Given the description of an element on the screen output the (x, y) to click on. 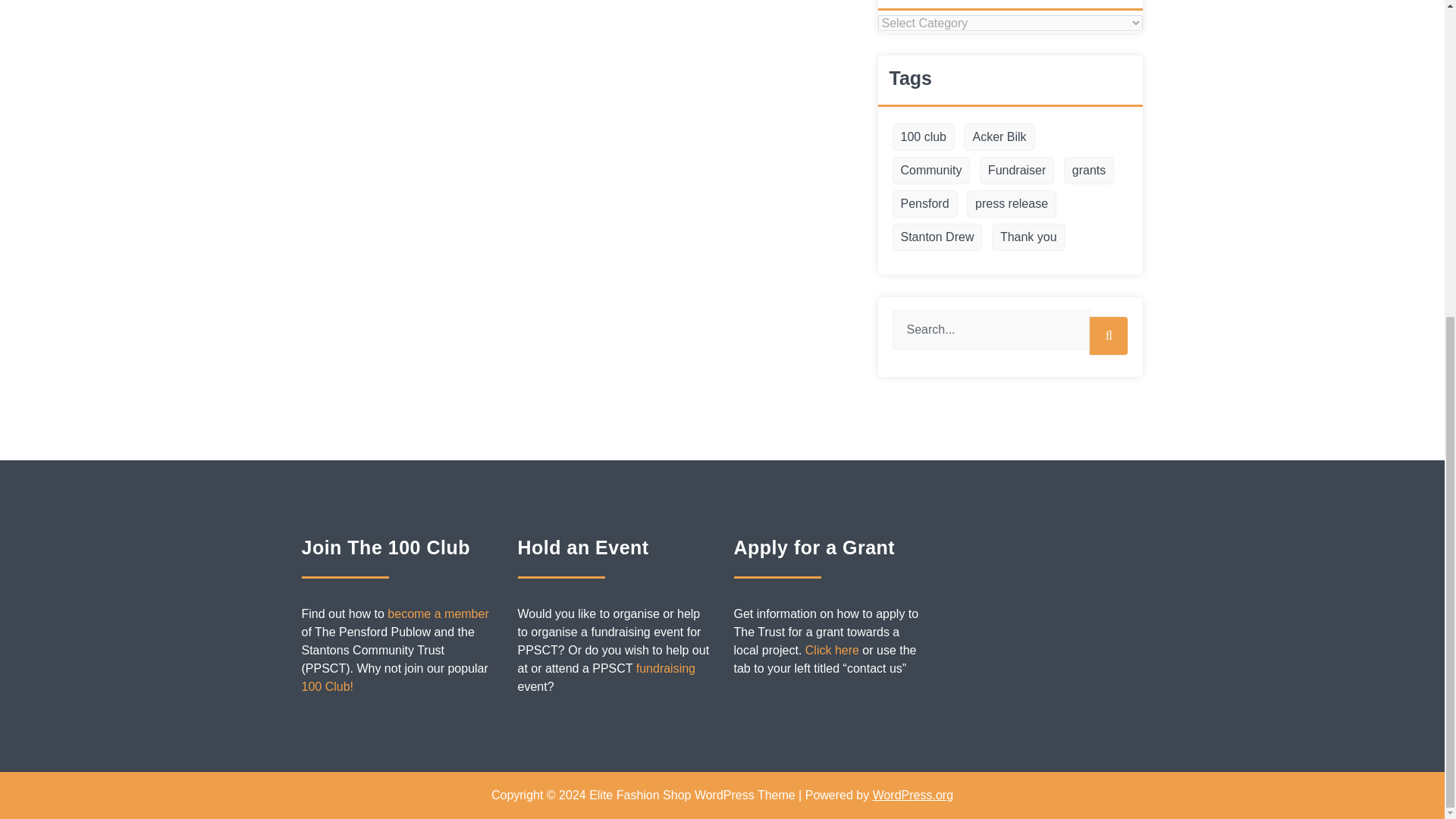
100 Club (437, 613)
100 Club (327, 686)
Stanton Drew (937, 237)
fundraise (665, 667)
grants (1088, 170)
Fundraiser (1015, 170)
100 club (924, 136)
Pensford (924, 203)
Acker Bilk (998, 136)
Thank you (1028, 237)
